Given the description of an element on the screen output the (x, y) to click on. 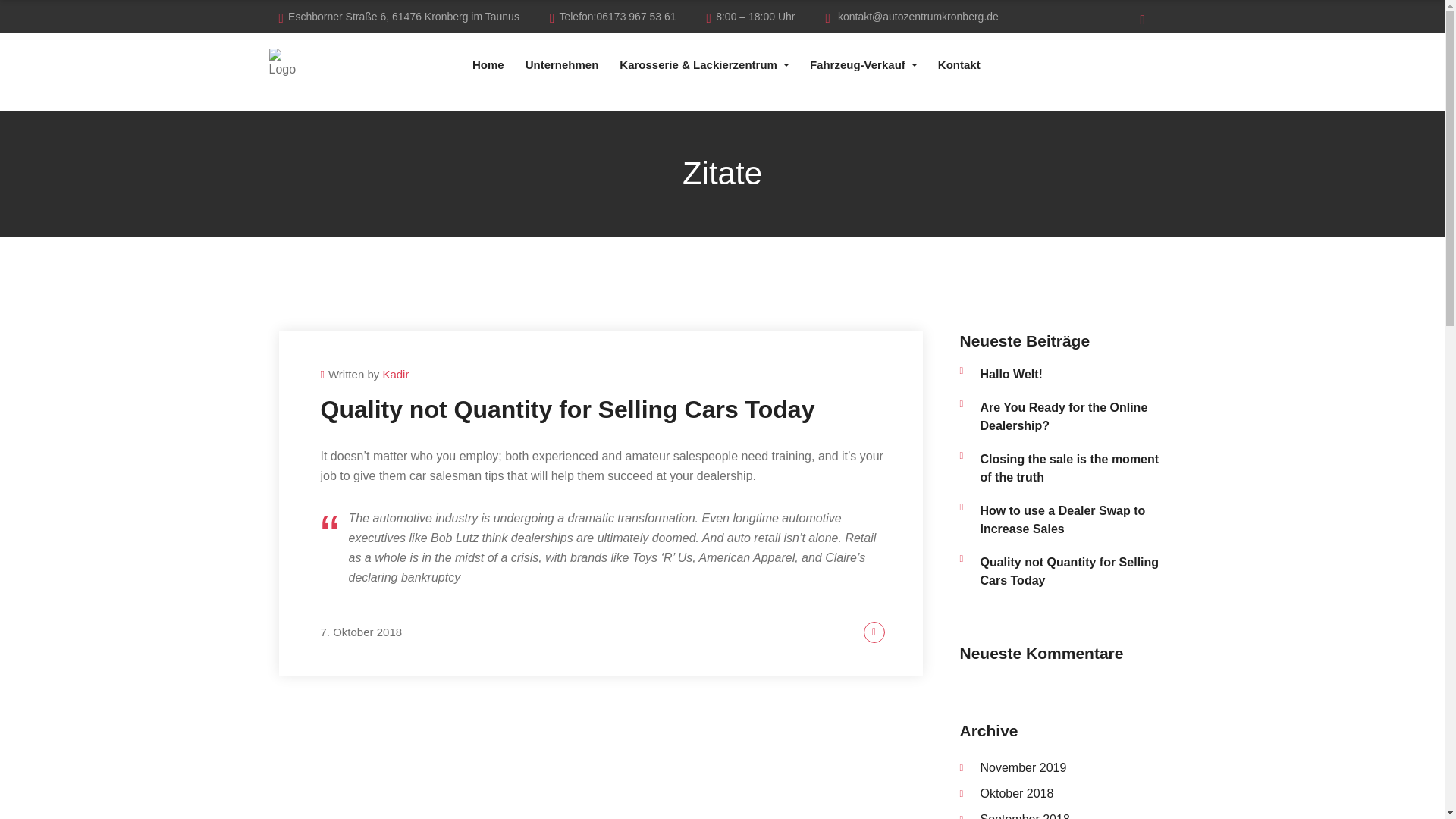
Unternehmen (562, 63)
Home (488, 63)
Hallo Welt! (1072, 374)
Telefon:06173 967 53 61 (613, 16)
Kadir (395, 373)
Fahrzeug-Verkauf (863, 63)
Kontakt (959, 63)
Quality not Quantity for Selling Cars Today (566, 409)
